Given the description of an element on the screen output the (x, y) to click on. 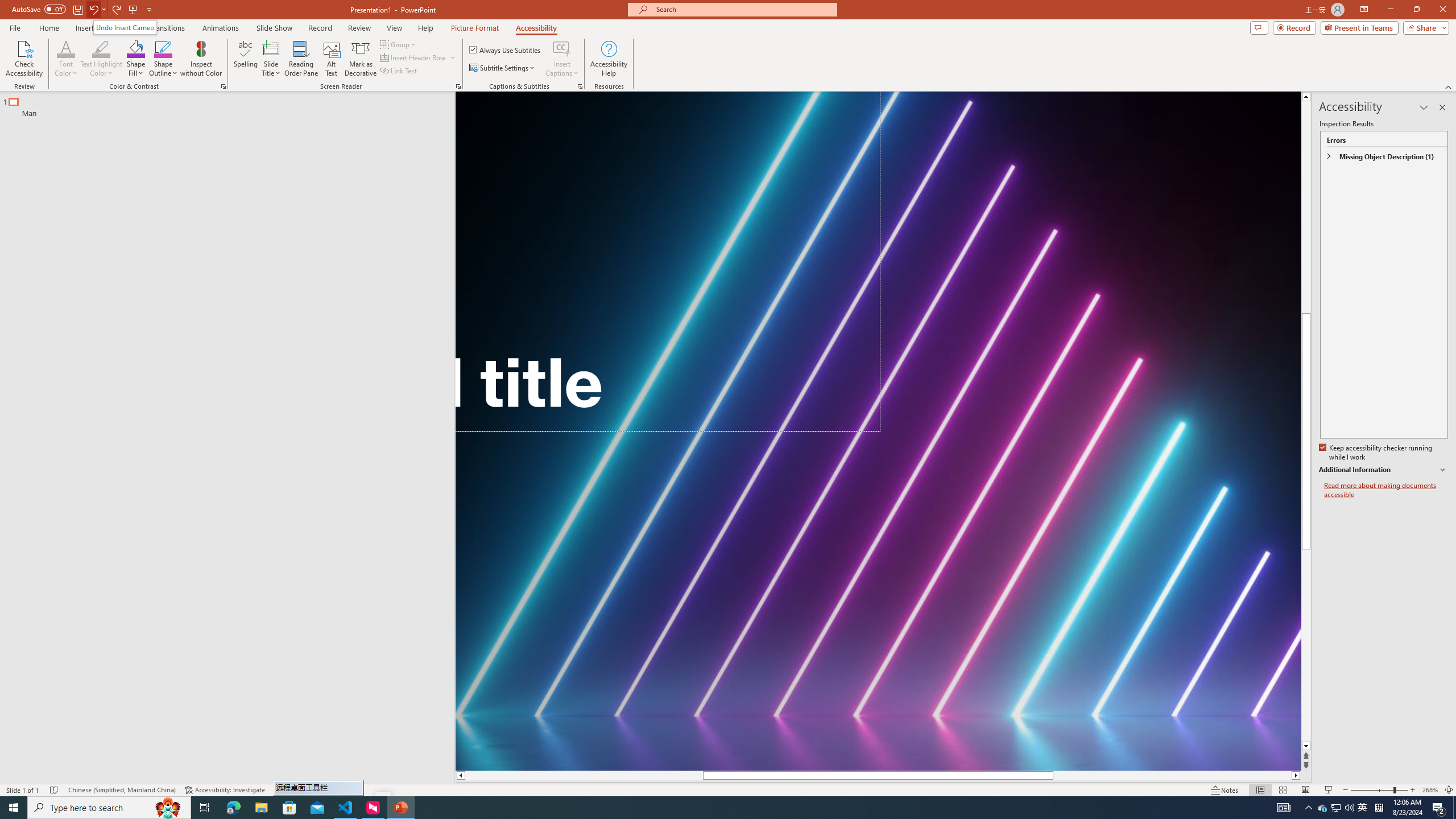
Undo Insert Cameo (125, 27)
Link Text (399, 69)
Color & Contrast (223, 85)
